Given the description of an element on the screen output the (x, y) to click on. 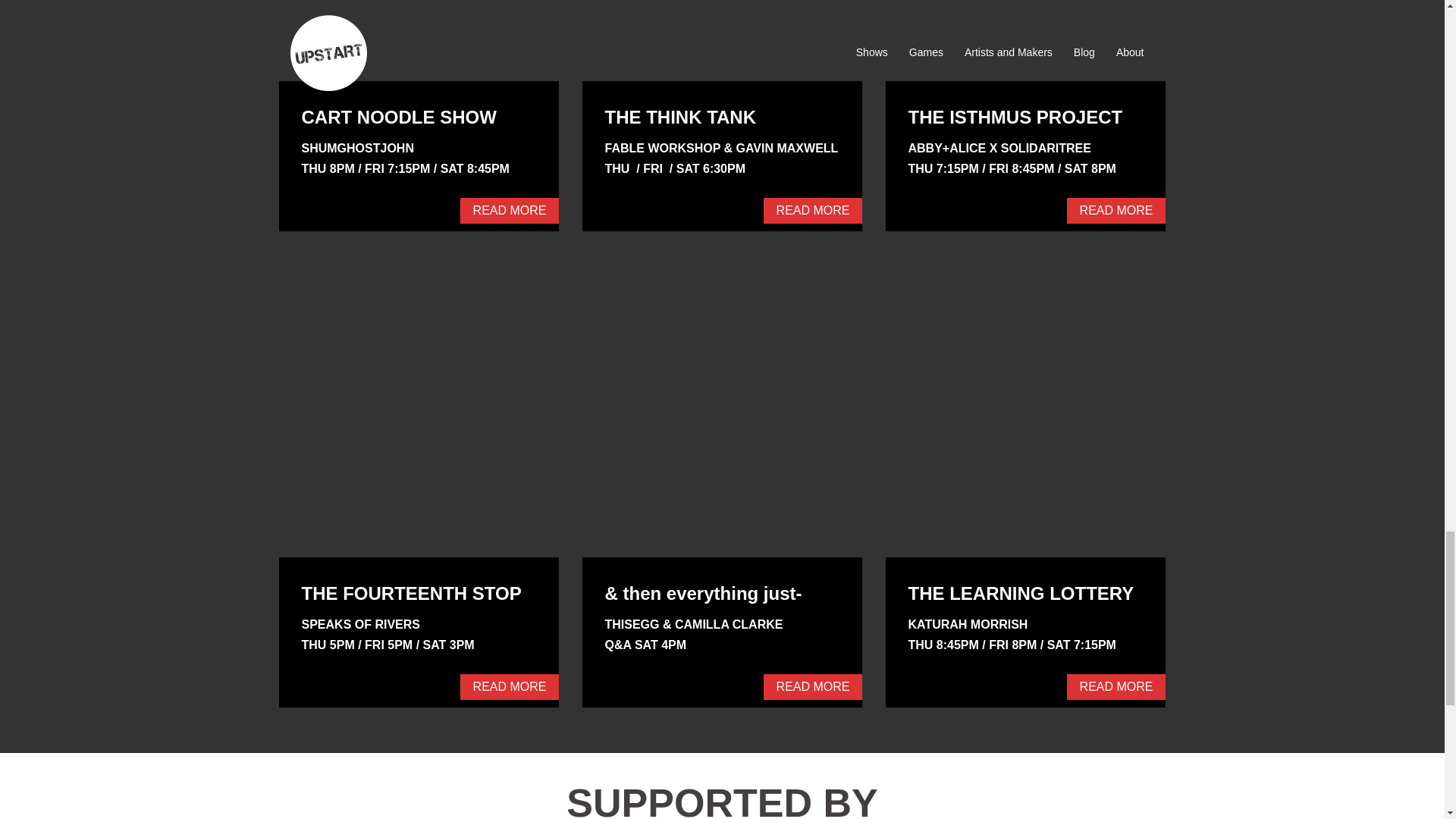
READ MORE (812, 210)
READ MORE (509, 210)
READ MORE (509, 687)
READ MORE (1116, 210)
READ MORE (812, 687)
